Given the description of an element on the screen output the (x, y) to click on. 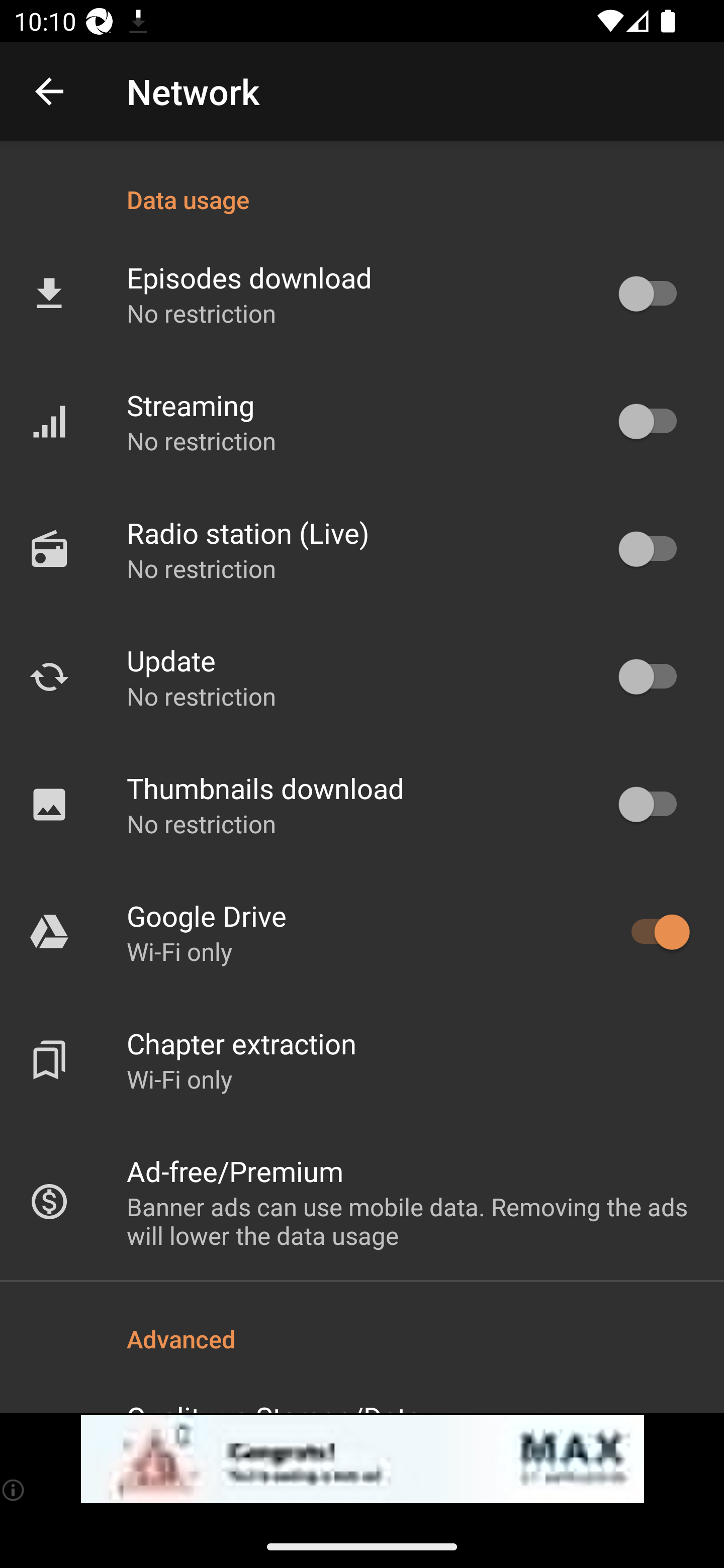
Navigate up (49, 91)
Episodes download No restriction (362, 293)
Streaming No restriction (362, 421)
Radio station (Live) No restriction (362, 549)
Update No restriction (362, 676)
Thumbnails download No restriction (362, 804)
Google Drive Wi-Fi only (362, 931)
Chapter extraction Wi-Fi only (362, 1059)
app-monetization (362, 1459)
(i) (14, 1489)
